Given the description of an element on the screen output the (x, y) to click on. 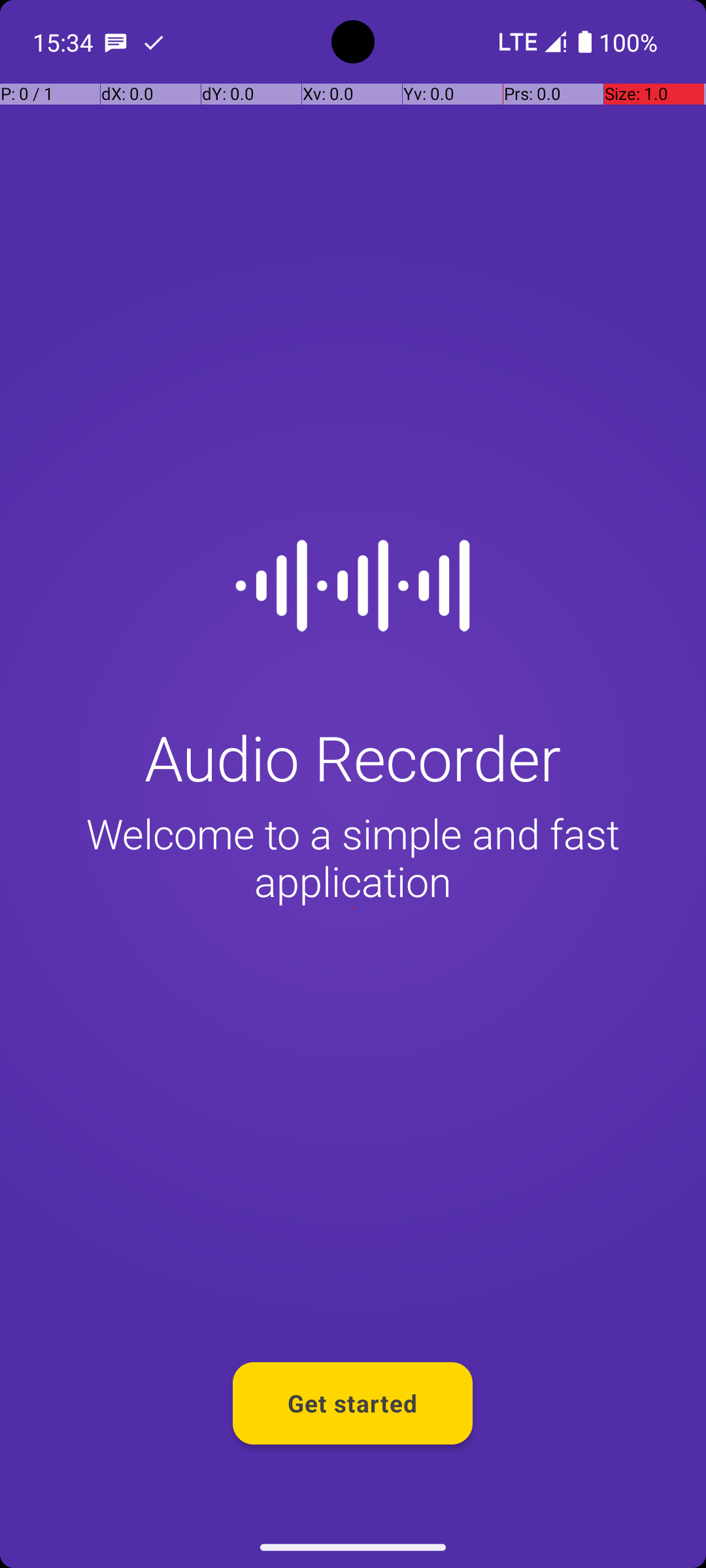
Welcome to a simple and fast application Element type: android.widget.TextView (352, 856)
SMS Messenger notification: Daniel Ali Element type: android.widget.ImageView (115, 41)
Contacts notification: Finished exporting contacts.vcf. Element type: android.widget.ImageView (153, 41)
